Given the description of an element on the screen output the (x, y) to click on. 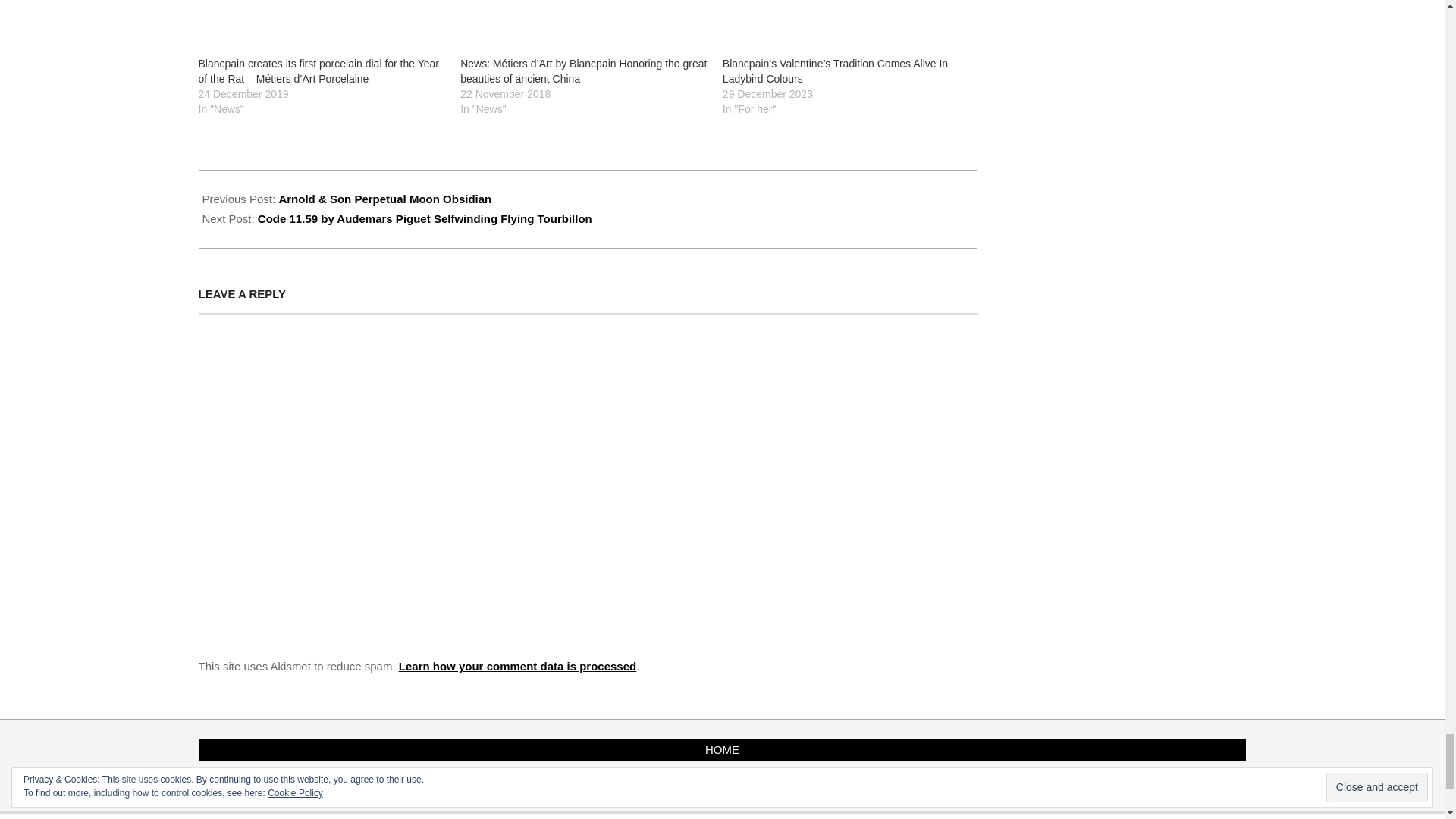
Code 11.59 by Audemars Piguet Selfwinding Flying Tourbillon (424, 218)
